Given the description of an element on the screen output the (x, y) to click on. 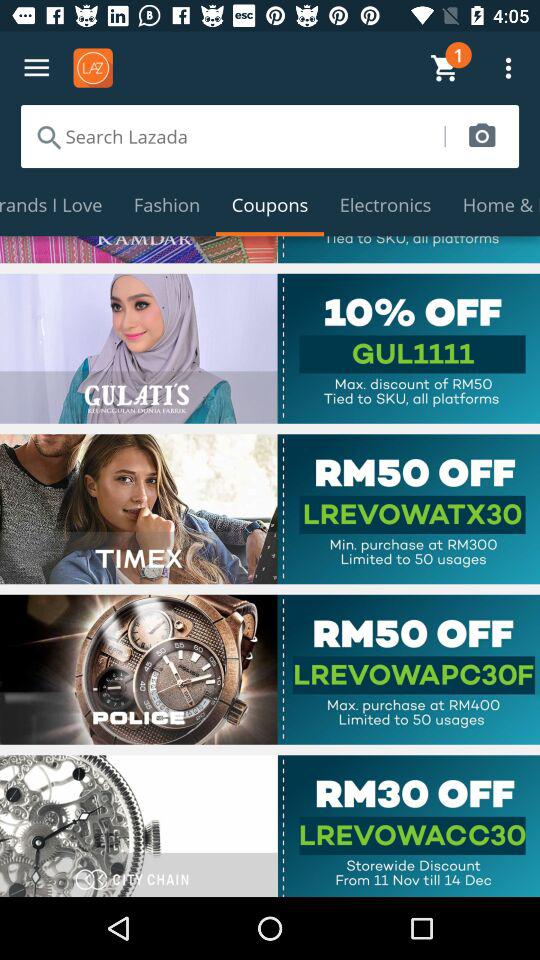
use coupon code (270, 509)
